Given the description of an element on the screen output the (x, y) to click on. 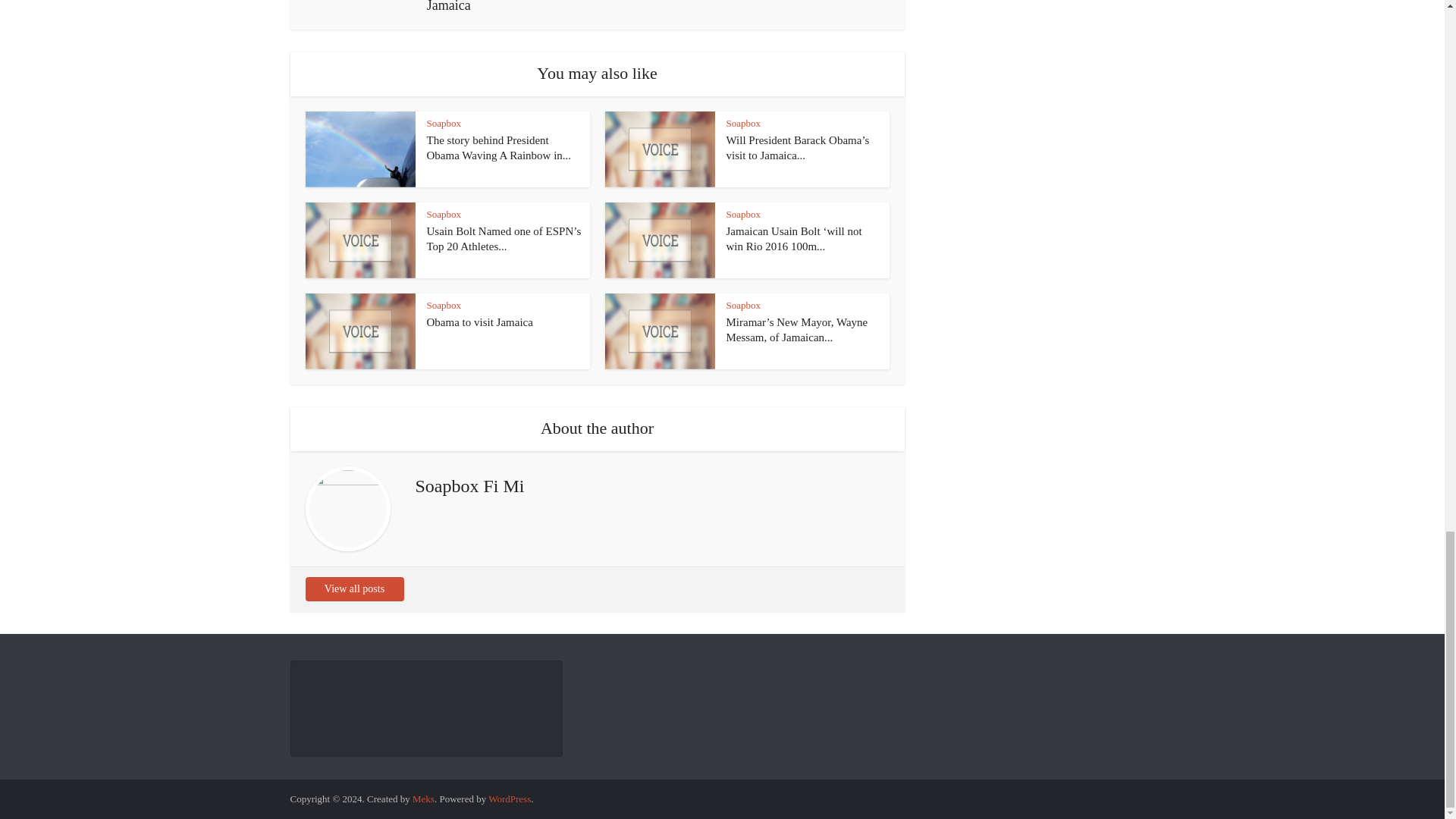
Soapbox (743, 122)
The story behind President Obama Waving A Rainbow in Jamaica (498, 147)
Soapbox (443, 214)
Soapbox (443, 122)
The story behind President Obama Waving A Rainbow in... (498, 147)
Obama to visit Jamaica (479, 322)
Soapbox (443, 305)
Soapbox (743, 214)
